Given the description of an element on the screen output the (x, y) to click on. 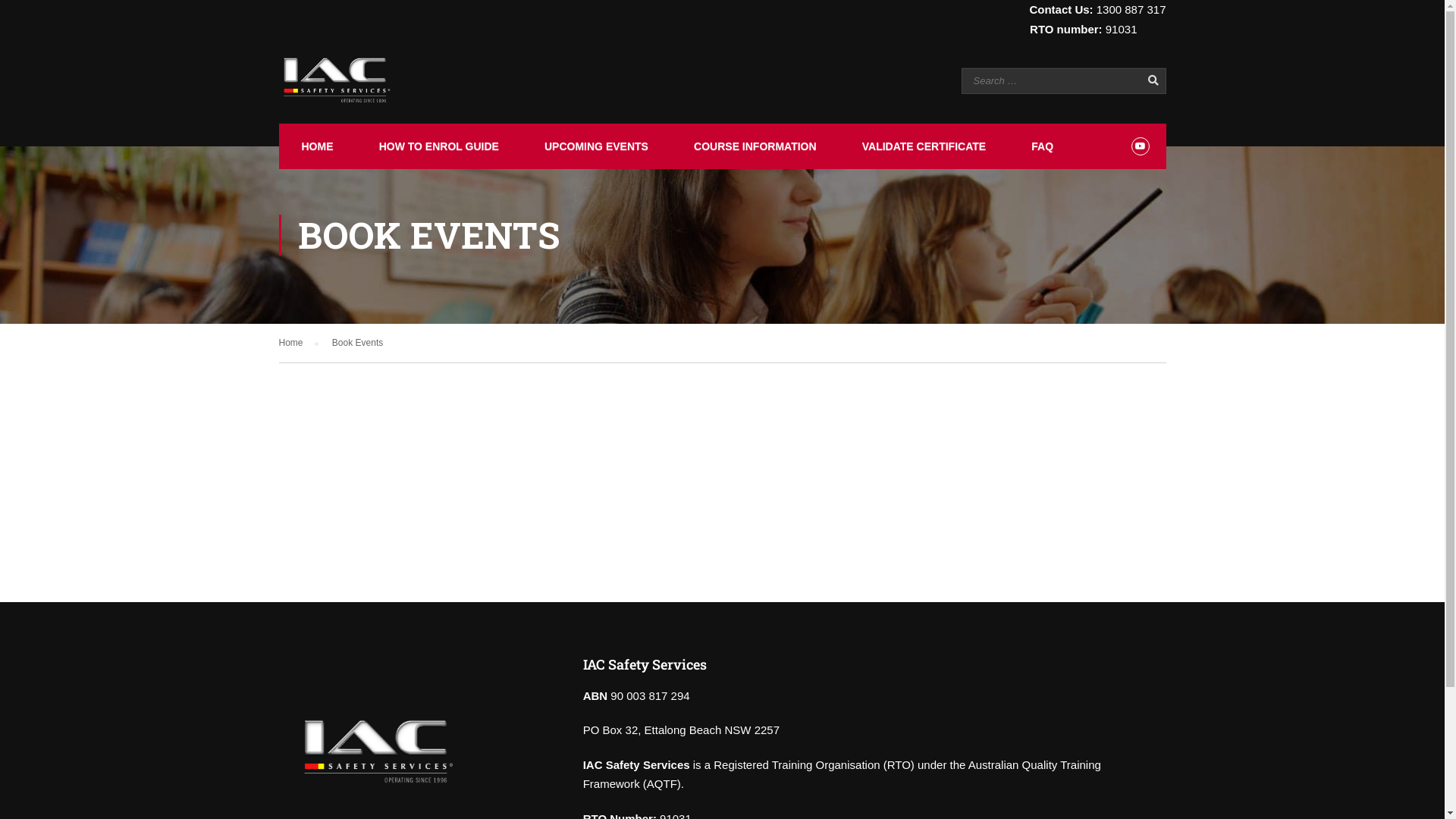
FAQ Element type: text (1040, 146)
HOME Element type: text (316, 146)
Search Element type: text (1147, 80)
HOW TO ENROL GUIDE Element type: text (437, 146)
IAC Safety Services -  Element type: hover (337, 80)
Home Element type: text (298, 342)
UPCOMING EVENTS Element type: text (594, 146)
VALIDATE CERTIFICATE Element type: text (922, 146)
COURSE INFORMATION Element type: text (753, 146)
